Given the description of an element on the screen output the (x, y) to click on. 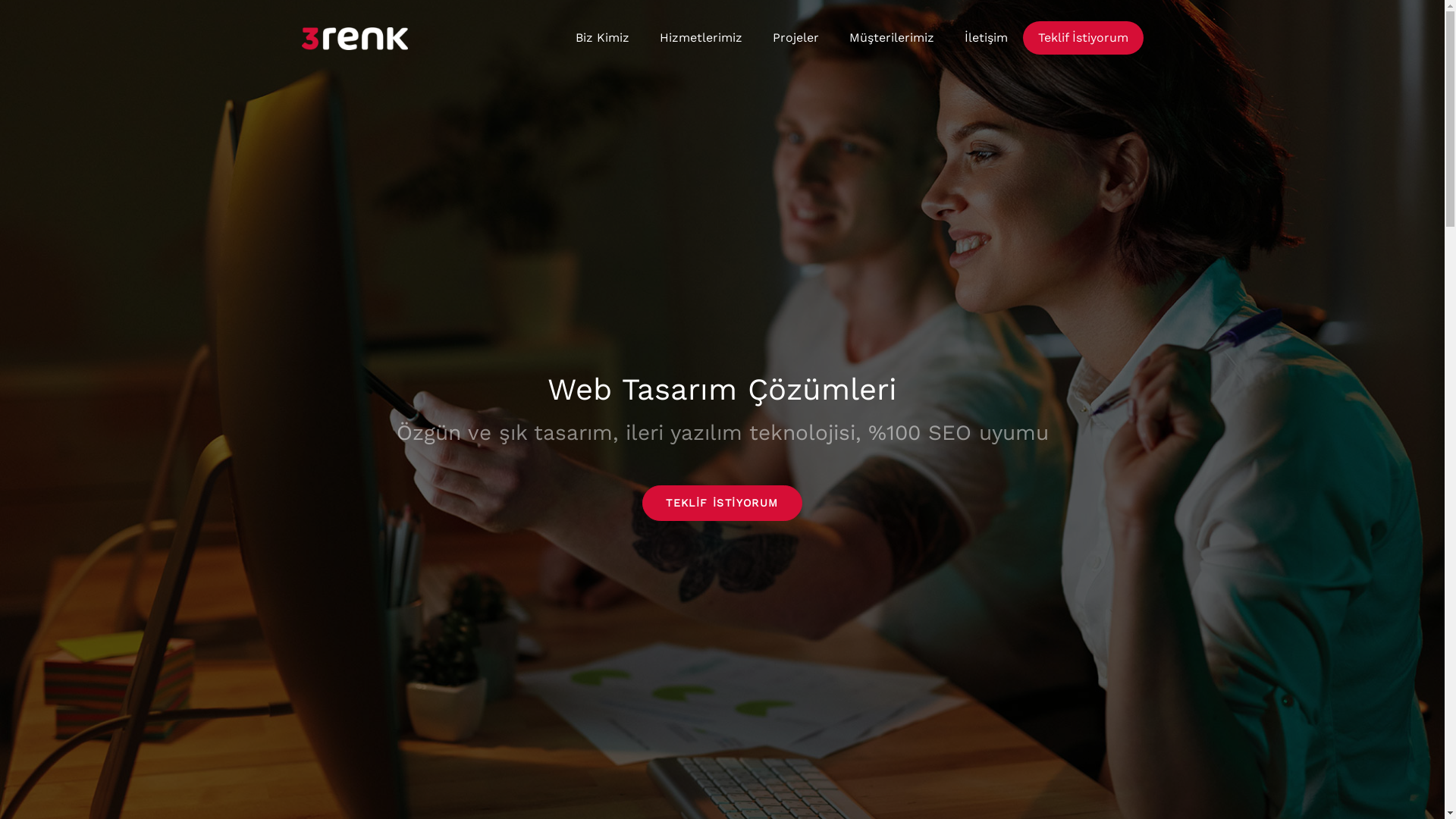
Biz Kimiz Element type: text (601, 37)
Projeler Element type: text (794, 37)
Hizmetlerimiz Element type: text (700, 37)
